Given the description of an element on the screen output the (x, y) to click on. 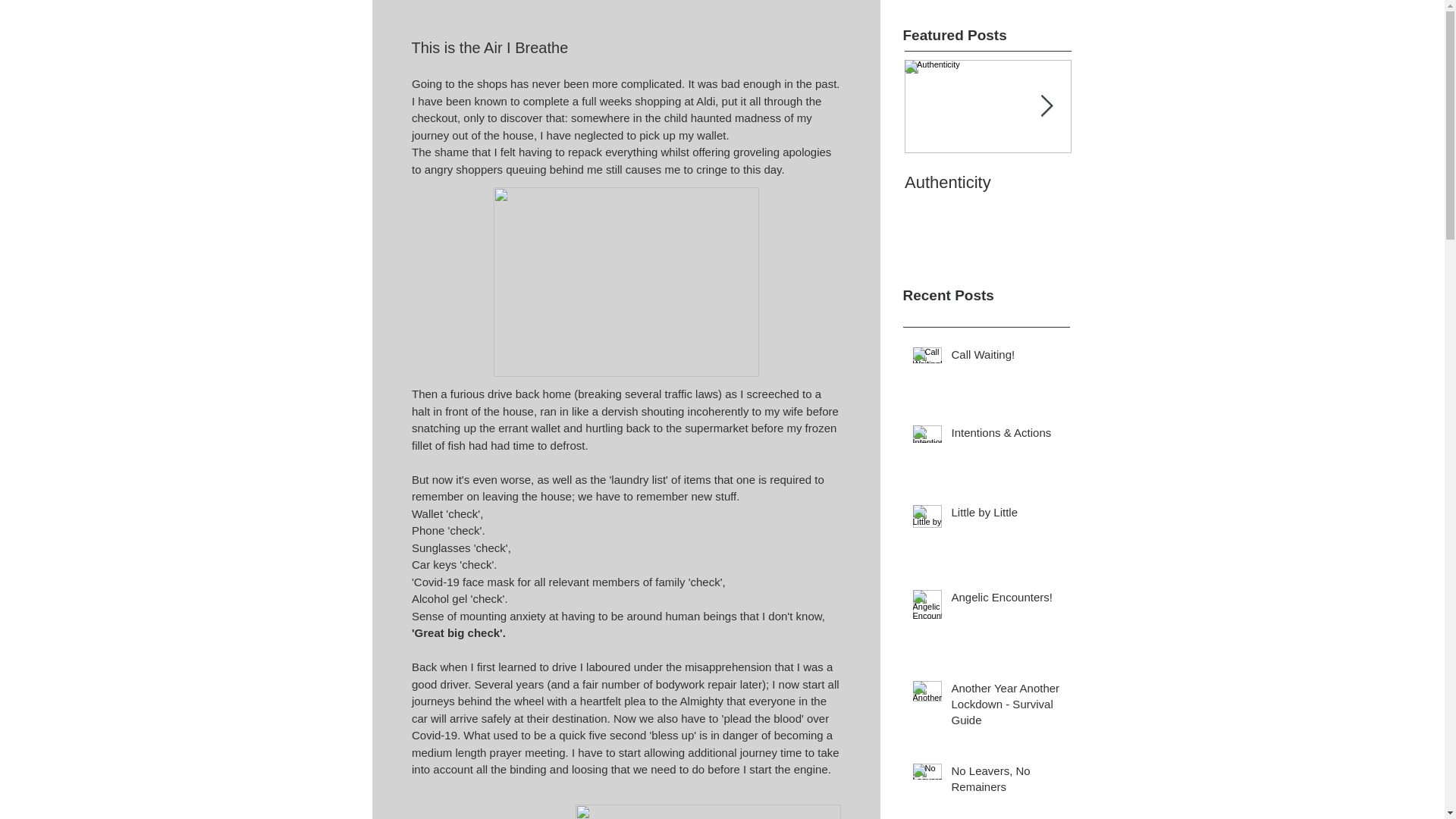
Another Year Another Lockdown - Survival Guide (987, 166)
Welcome (987, 166)
Angelic Encounters! (1004, 706)
Authenticity (1153, 182)
Call Waiting! (1004, 599)
No Leavers, No Remainers (987, 182)
Little by Little (1004, 357)
